Given the description of an element on the screen output the (x, y) to click on. 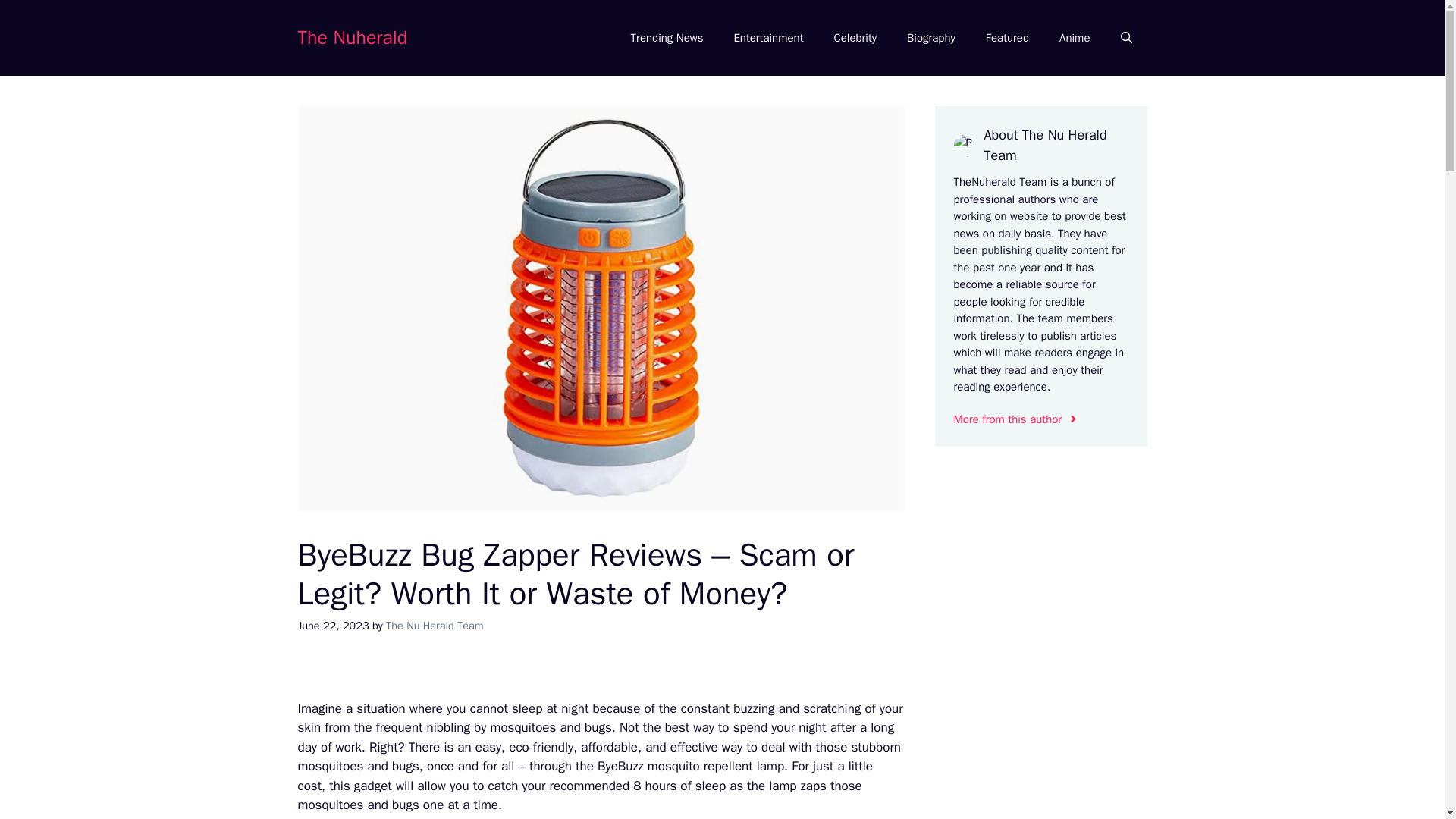
View all posts by The Nu Herald Team (434, 625)
Trending News (667, 37)
Anime (1074, 37)
The Nu Herald Team (434, 625)
Entertainment (767, 37)
Celebrity (854, 37)
The Nuherald (352, 37)
More from this author (1015, 419)
Biography (931, 37)
Featured (1007, 37)
